Given the description of an element on the screen output the (x, y) to click on. 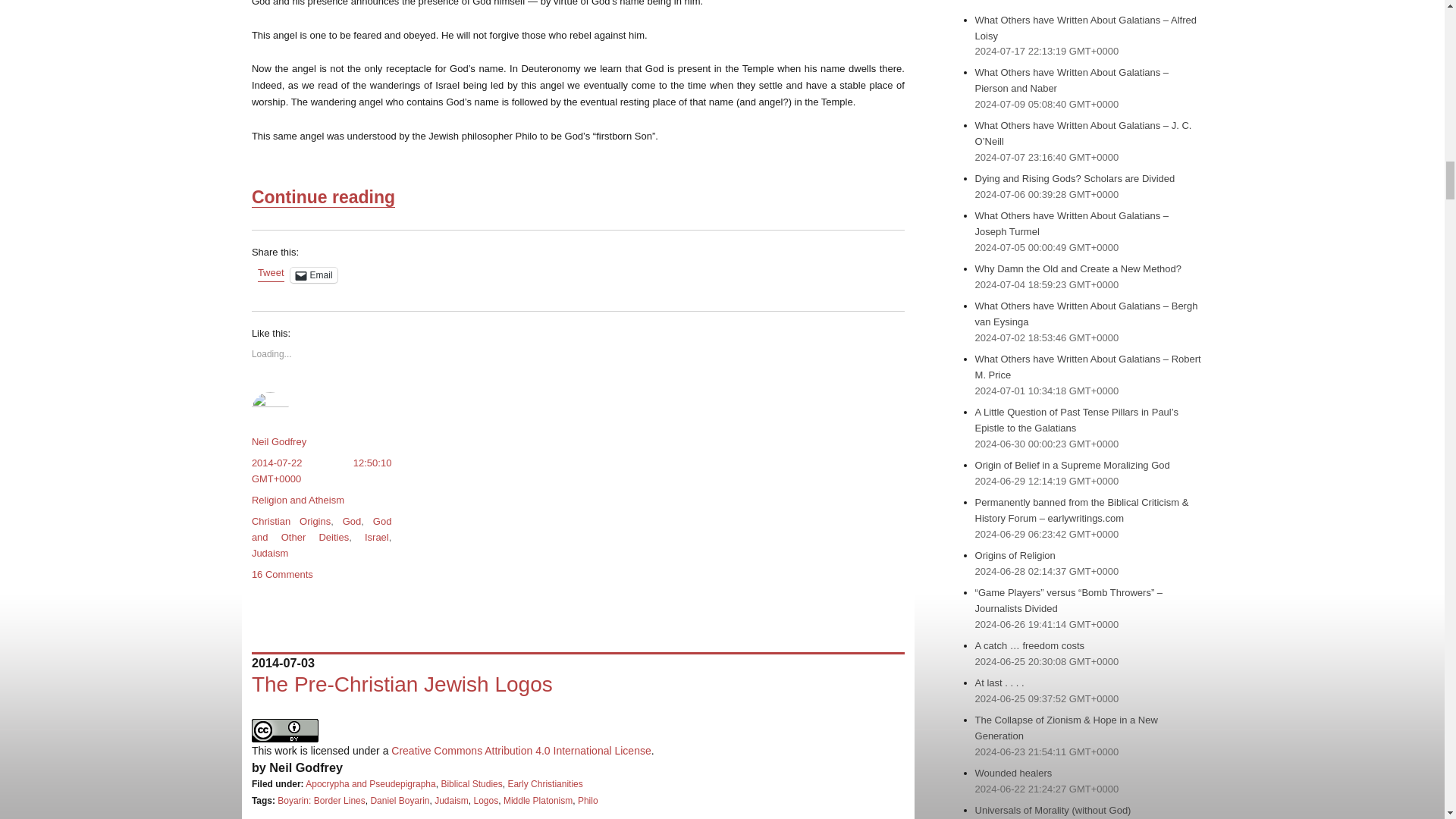
Click to email a link to a friend (313, 274)
